Given the description of an element on the screen output the (x, y) to click on. 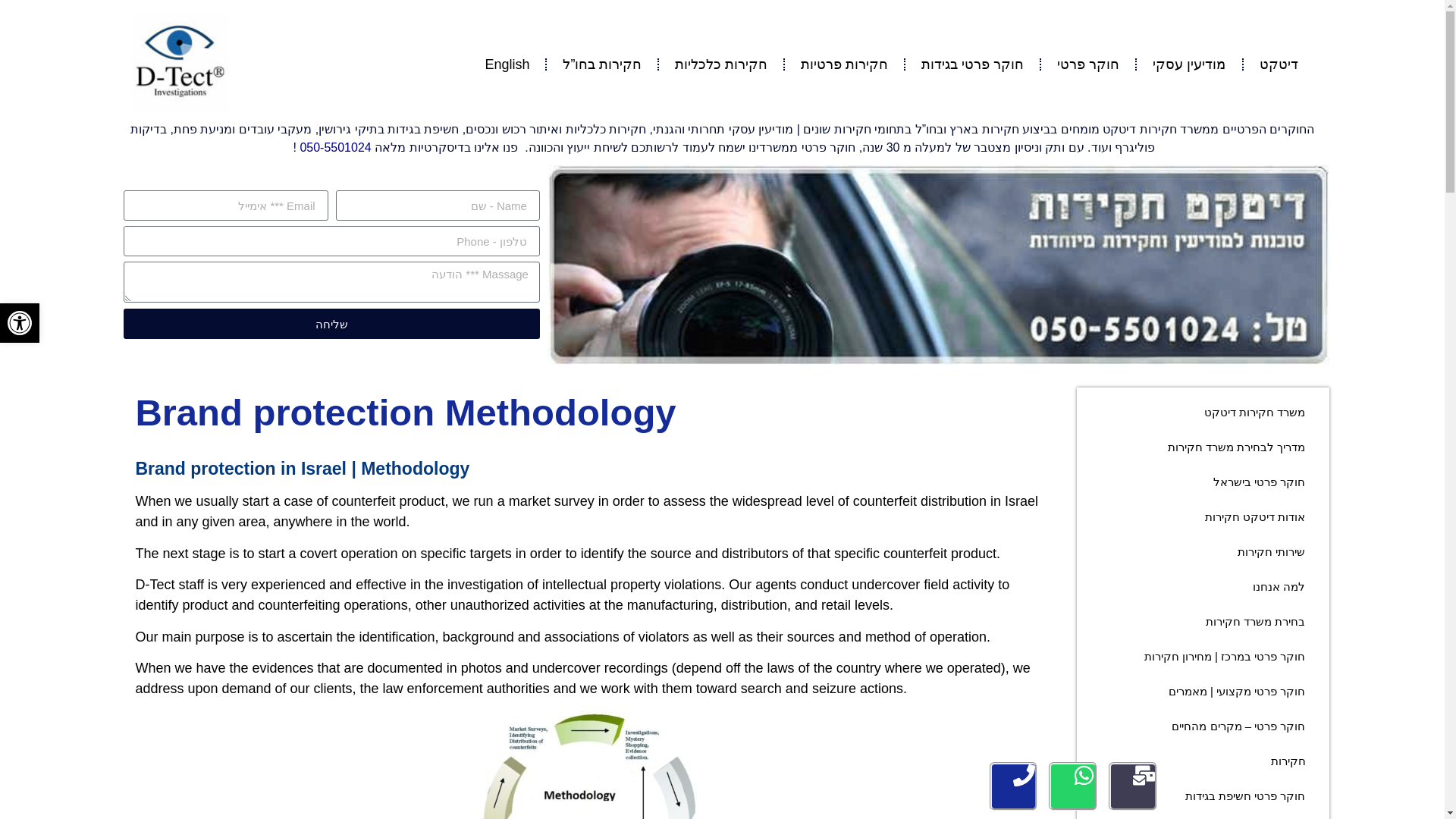
Brand protection Methodology (586, 764)
English (506, 63)
